Given the description of an element on the screen output the (x, y) to click on. 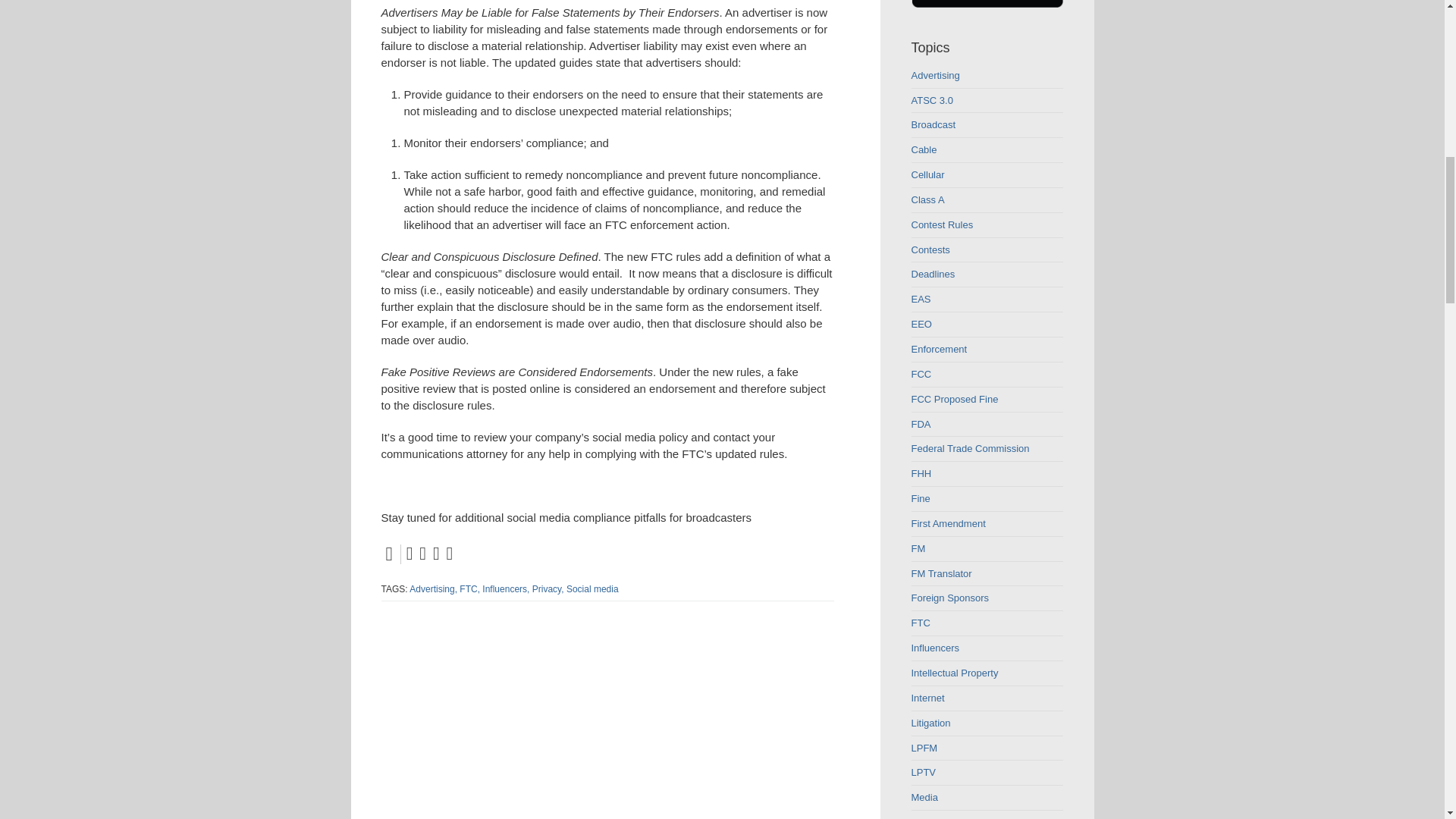
FTC, (470, 588)
Privacy, (548, 588)
Influencers, (505, 588)
Social media (592, 588)
Advertising, (433, 588)
